Given the description of an element on the screen output the (x, y) to click on. 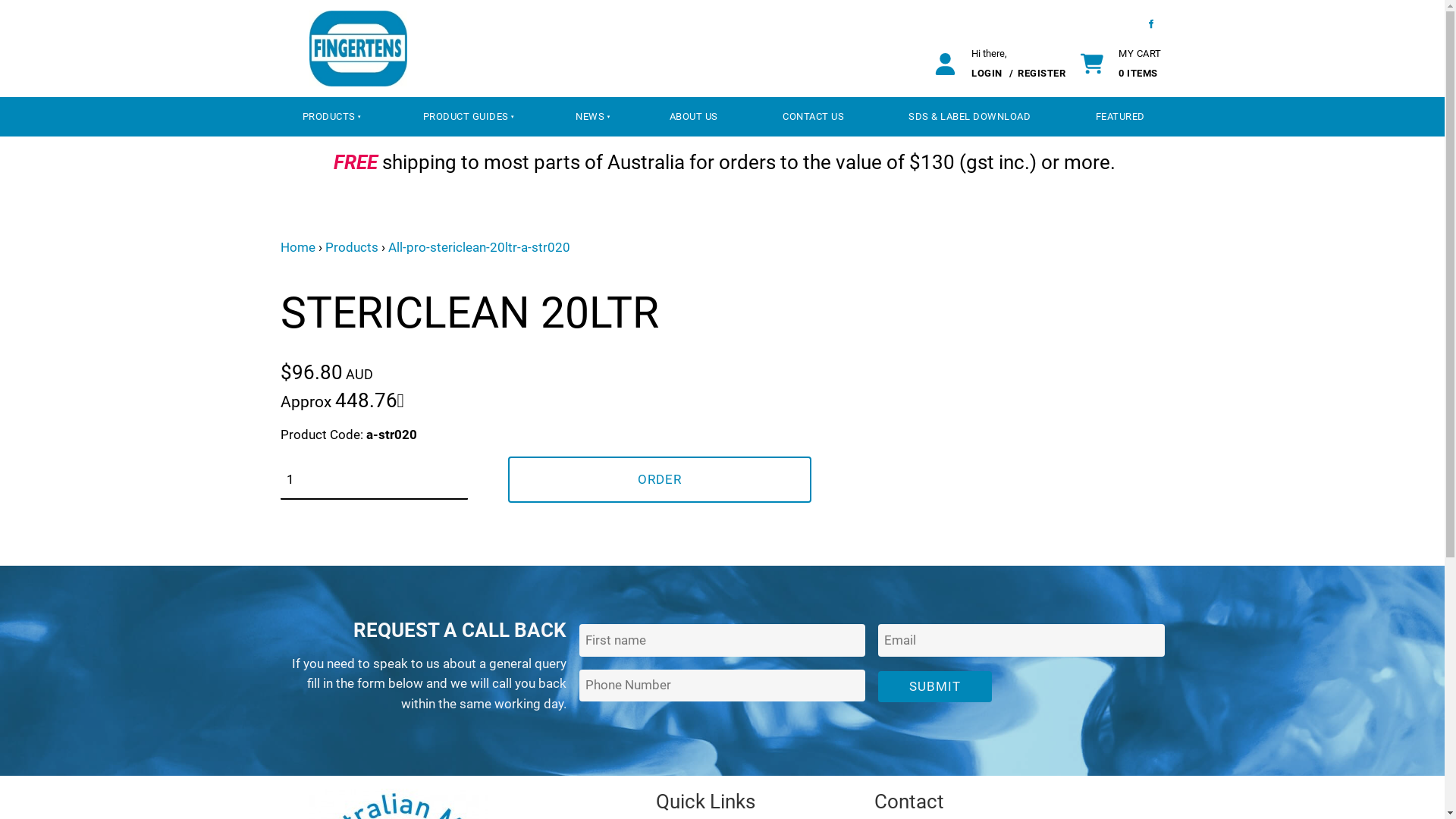
REGISTER Element type: text (1041, 72)
ABOUT US Element type: text (693, 116)
NEWS Element type: text (588, 116)
Facebook Element type: hover (1150, 23)
SUBMIT Element type: text (934, 686)
FEATURED Element type: text (1119, 116)
PRODUCT GUIDES Element type: text (463, 116)
MY CART
0 ITEMS Element type: text (1139, 63)
CONTACT US Element type: text (812, 116)
SDS & LABEL DOWNLOAD Element type: text (969, 116)
Home Element type: text (297, 246)
Products Element type: text (350, 246)
ORDER Element type: text (659, 479)
All-pro-stericlean-20ltr-a-str020 Element type: text (479, 246)
PRODUCTS Element type: text (326, 116)
LOGIN Element type: text (987, 72)
